Given the description of an element on the screen output the (x, y) to click on. 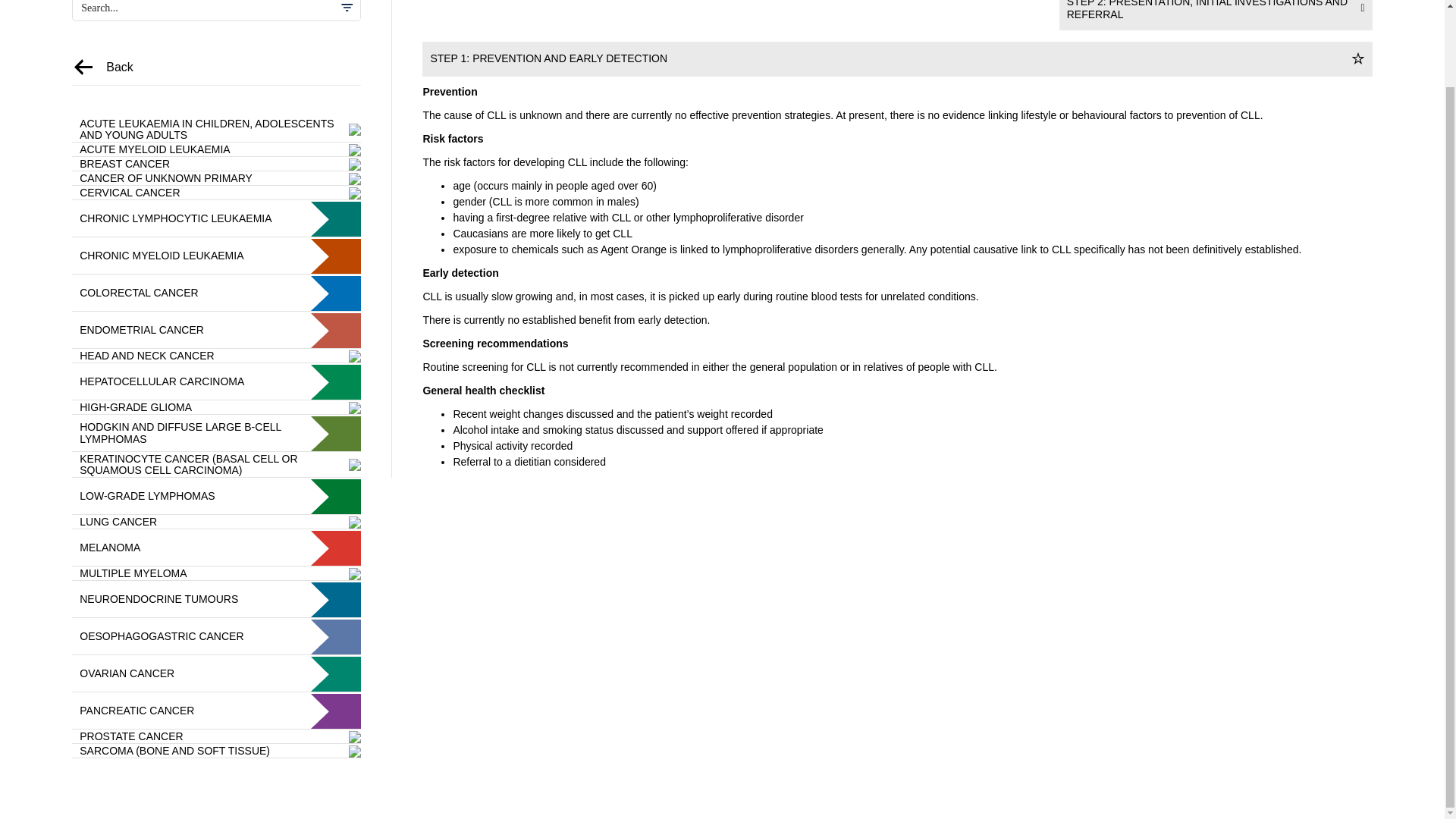
ACUTE MYELOID LEUKAEMIA (216, 150)
CERVICAL CANCER (216, 193)
HEAD AND NECK CANCER (216, 356)
COLORECTAL CANCER (216, 293)
ENDOMETRIAL CANCER (216, 330)
CHRONIC LYMPHOCYTIC LEUKAEMIA (216, 218)
MELANOMA (216, 547)
LOW-GRADE LYMPHOMAS (216, 496)
HIGH-GRADE GLIOMA (216, 408)
LUNG CANCER (216, 522)
